Given the description of an element on the screen output the (x, y) to click on. 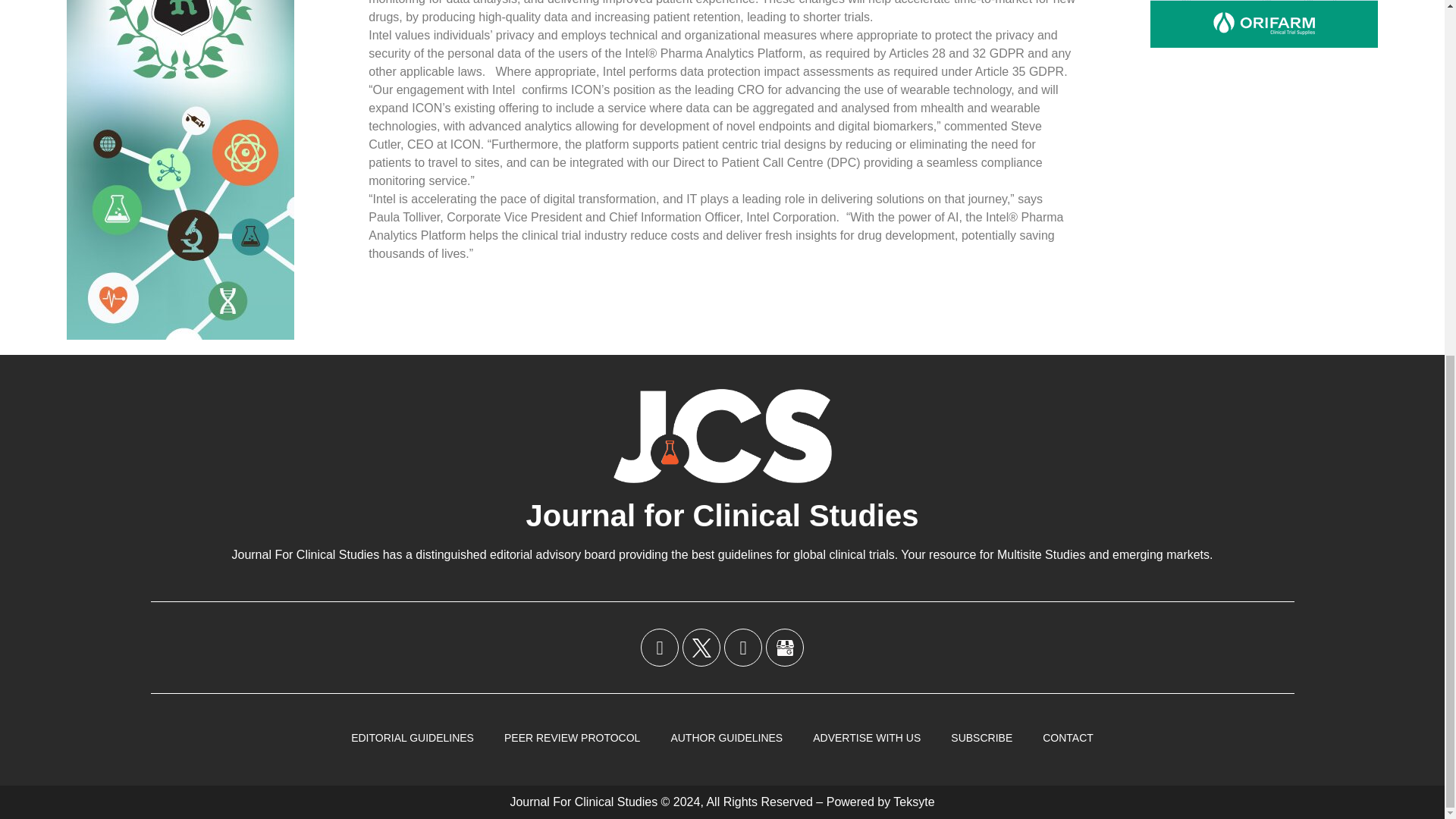
jcs-white.png (722, 434)
Web design services (913, 801)
